Given the description of an element on the screen output the (x, y) to click on. 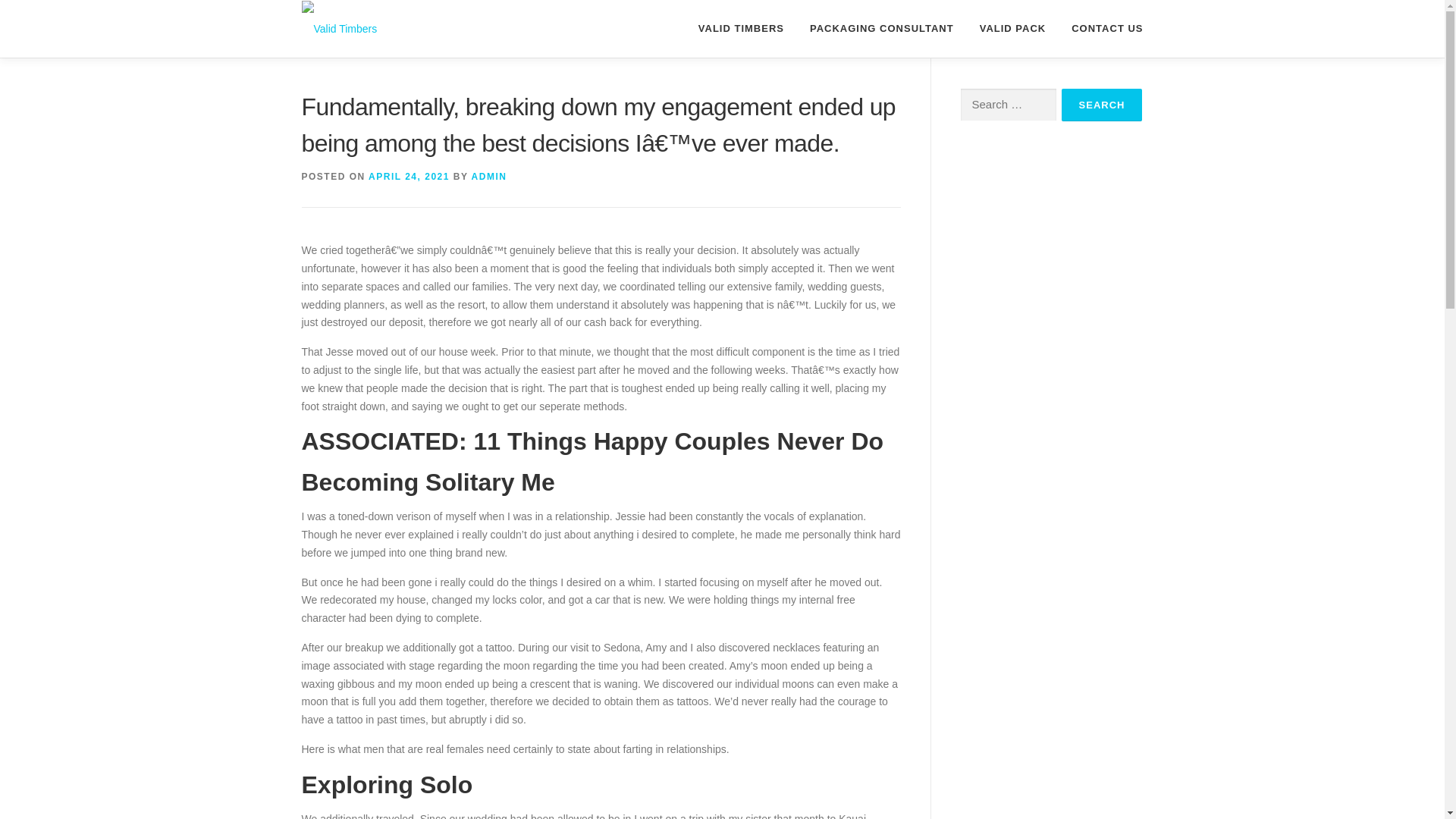
VALID TIMBERS (740, 28)
VALID PACK (1012, 28)
Skip to content (34, 9)
ADMIN (488, 176)
Search (1101, 104)
Search (1101, 104)
Search (1101, 104)
CONTACT US (1100, 28)
PACKAGING CONSULTANT (881, 28)
APRIL 24, 2021 (408, 176)
